Given the description of an element on the screen output the (x, y) to click on. 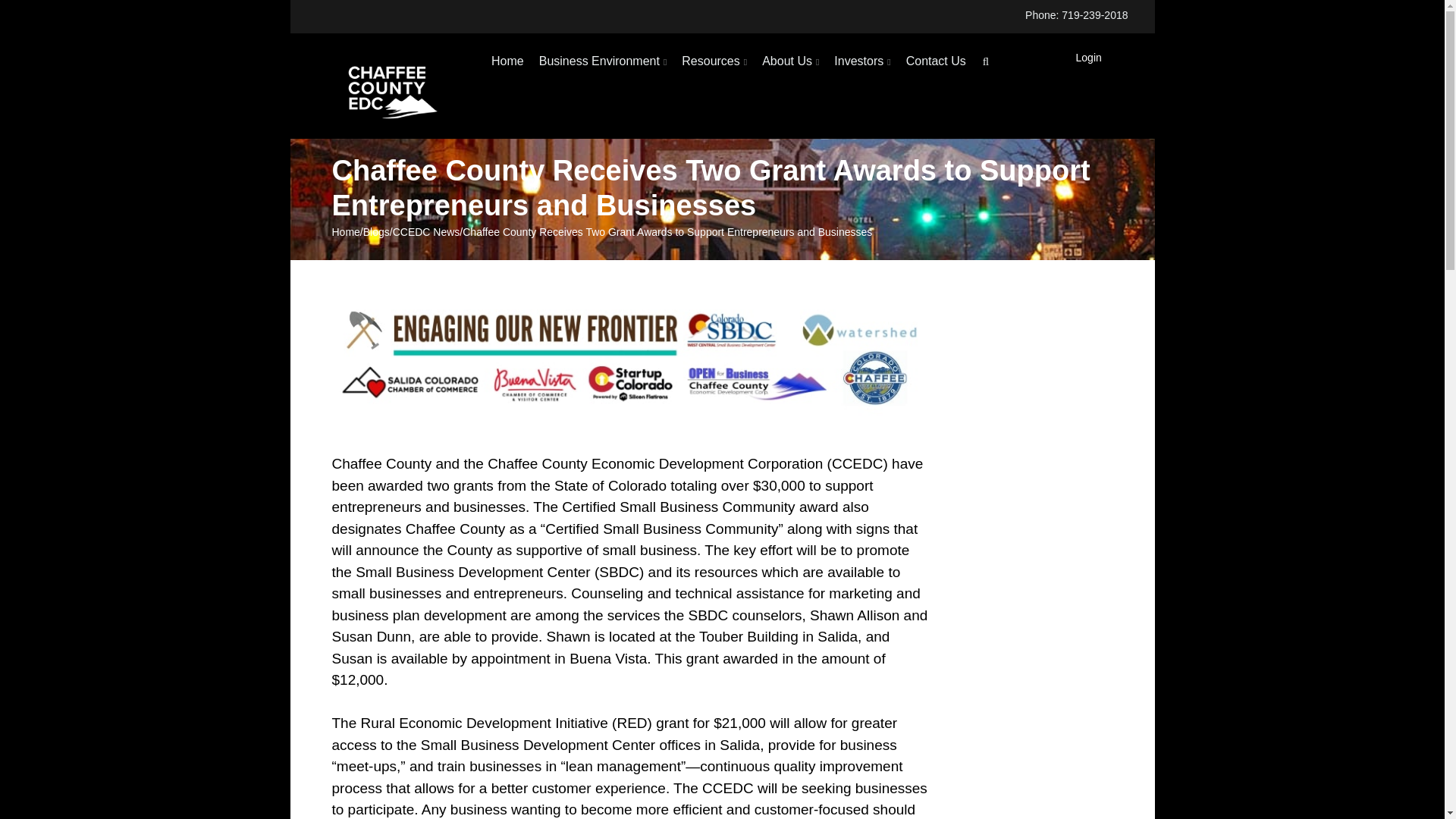
Phone: 719-239-2018 (1080, 15)
Investors (862, 61)
Chaffee County Economic Development Corporation (388, 86)
Home (507, 61)
Go to the CCEDC News category archives. (426, 231)
About Us (790, 61)
Resources (714, 61)
Chaffee County Economic Development Corporation -  (388, 86)
Business Environment (603, 61)
Login (1089, 57)
Login (1089, 57)
Contact Us (936, 61)
Go to Chaffee County Economic Development Corporation. (345, 231)
Go to Blogs. (376, 231)
Search (985, 64)
